Given the description of an element on the screen output the (x, y) to click on. 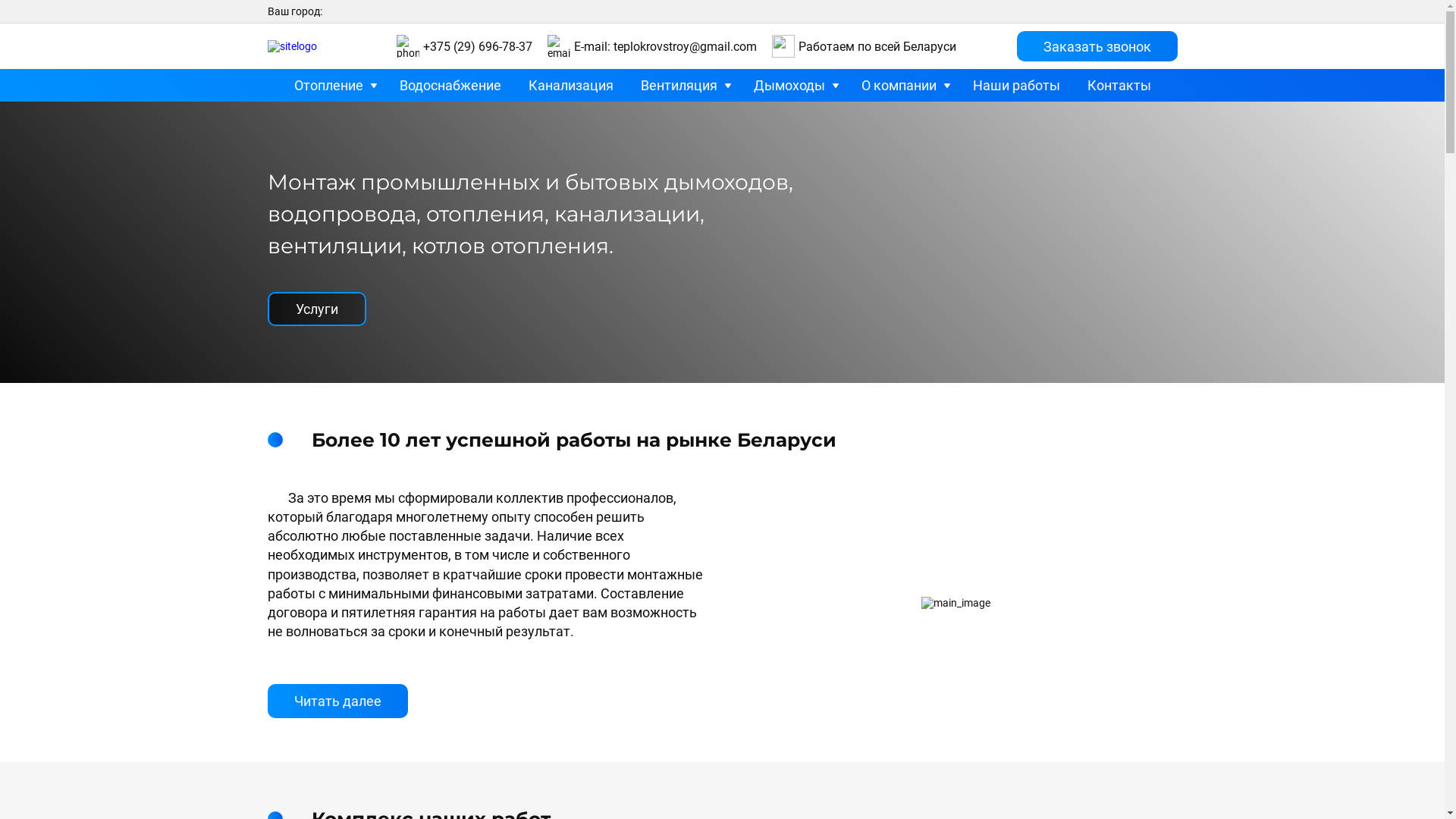
+375 (29) 696-78-37 Element type: text (477, 46)
E-mail: teplokrovstroy@gmail.com Element type: text (664, 46)
